Given the description of an element on the screen output the (x, y) to click on. 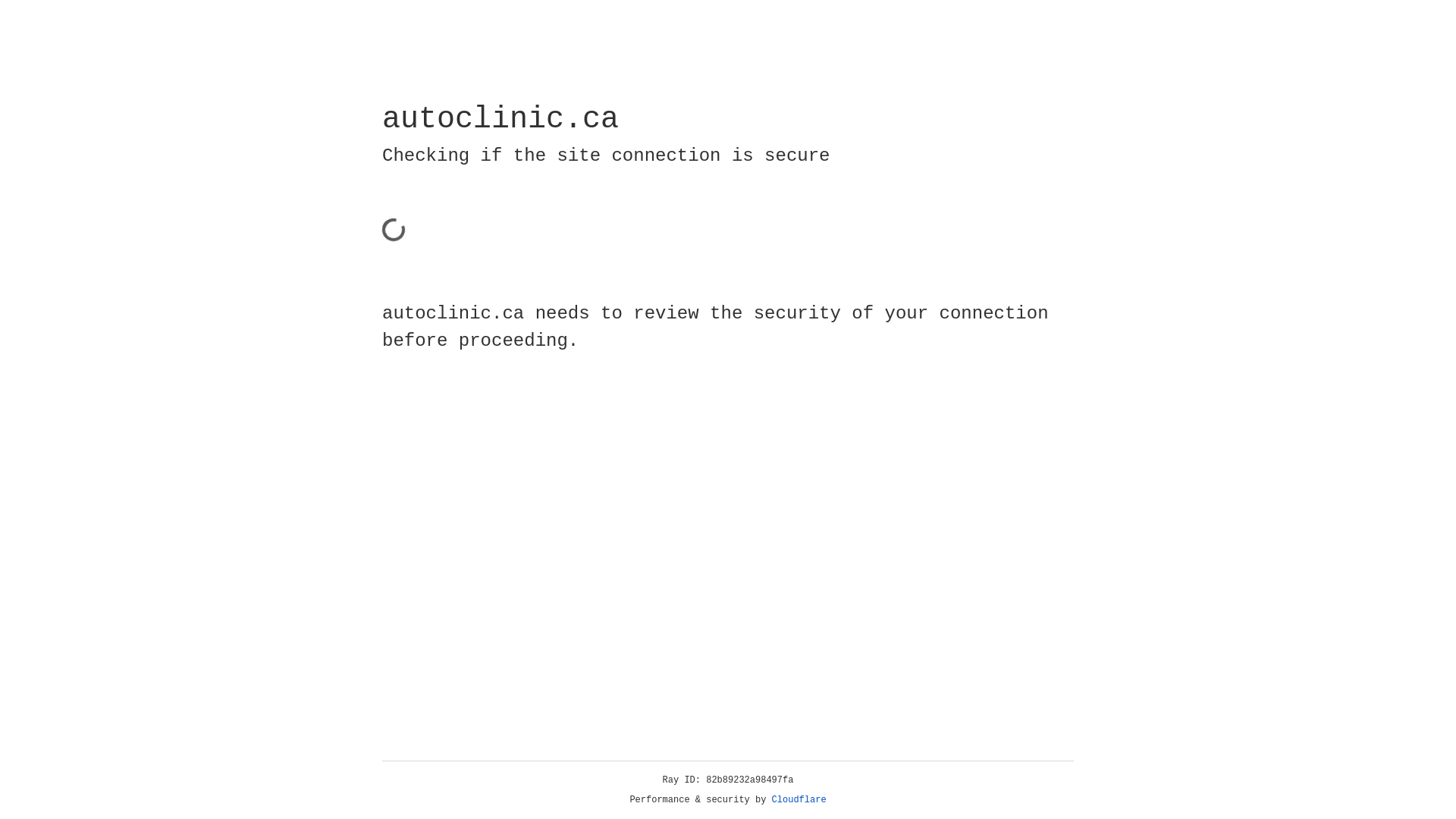
Cloudflare Element type: text (798, 799)
